Given the description of an element on the screen output the (x, y) to click on. 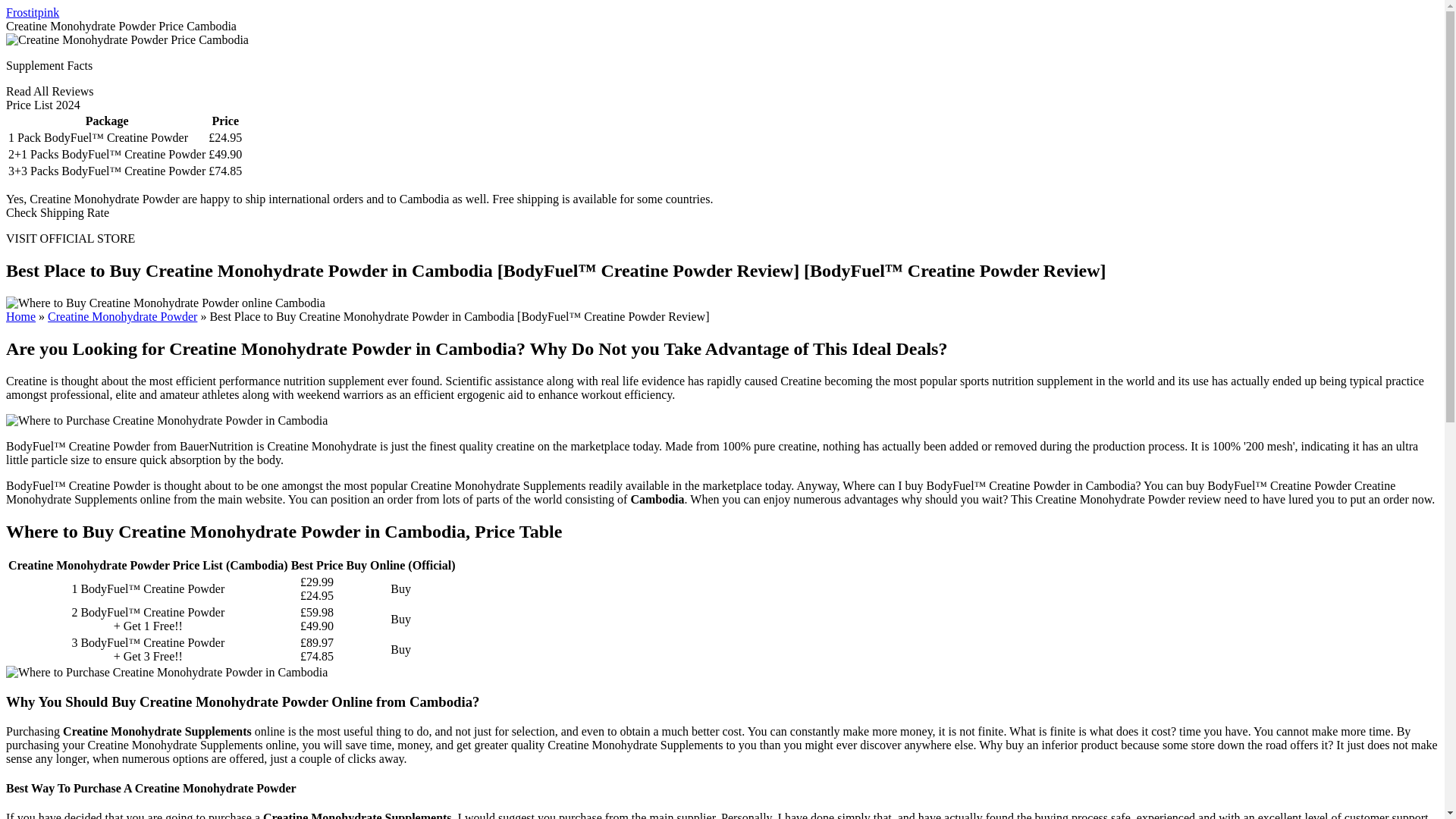
Creatine Monohydrate Powder Price Cambodia (126, 39)
Buy Creatine Monohydrate Powder Online  (122, 316)
Where to Purchase Creatine Monohydrate Powder in Cambodia (166, 672)
Where to Purchase Creatine Monohydrate Powder in Cambodia (166, 420)
Frostitpink (32, 11)
Creatine Monohydrate Powder (122, 316)
Frostitpink (32, 11)
Home (19, 316)
Buy Creatine Monohydrate Powder online Cambodia (164, 303)
